Given the description of an element on the screen output the (x, y) to click on. 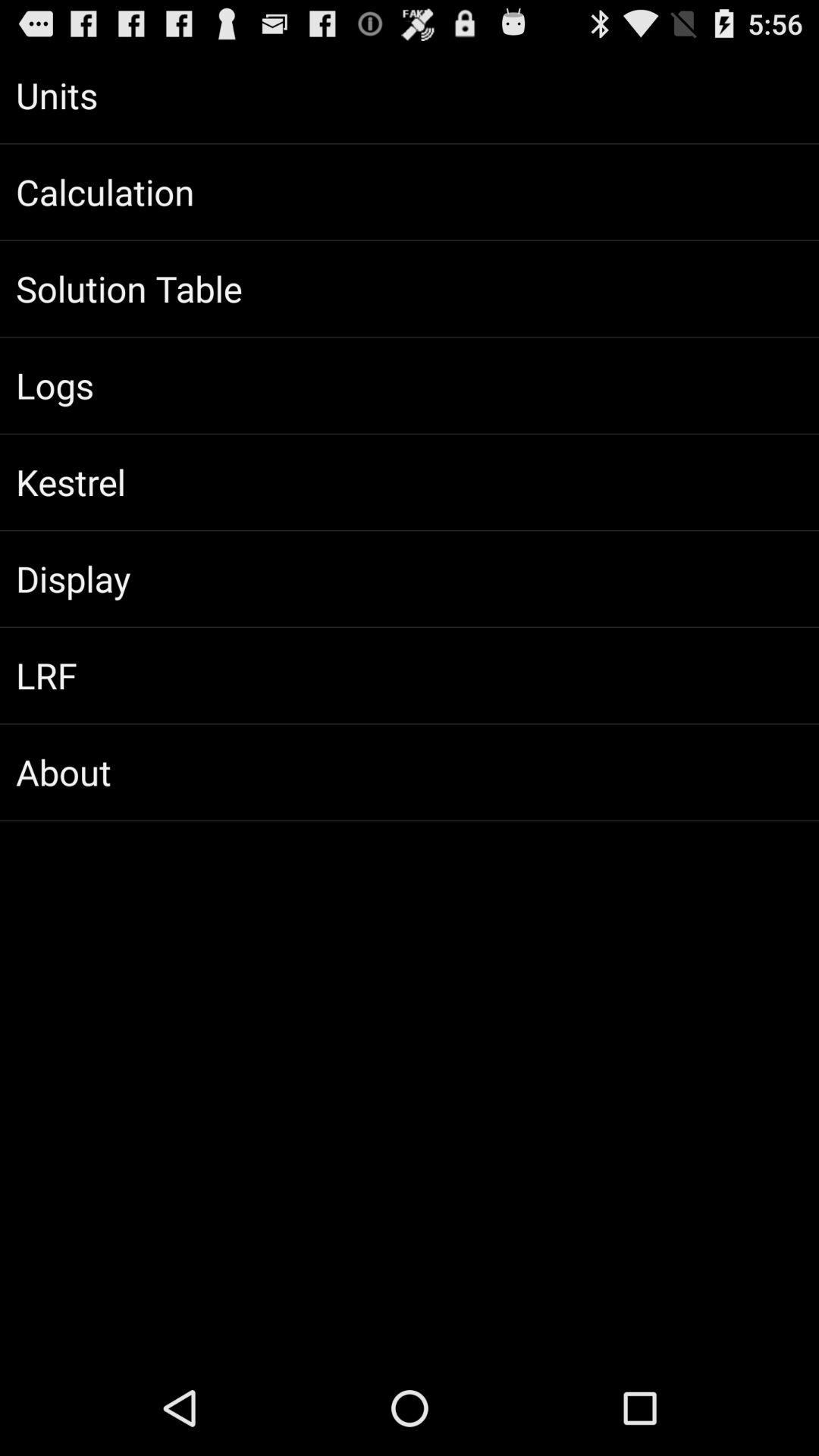
swipe until display (409, 578)
